Given the description of an element on the screen output the (x, y) to click on. 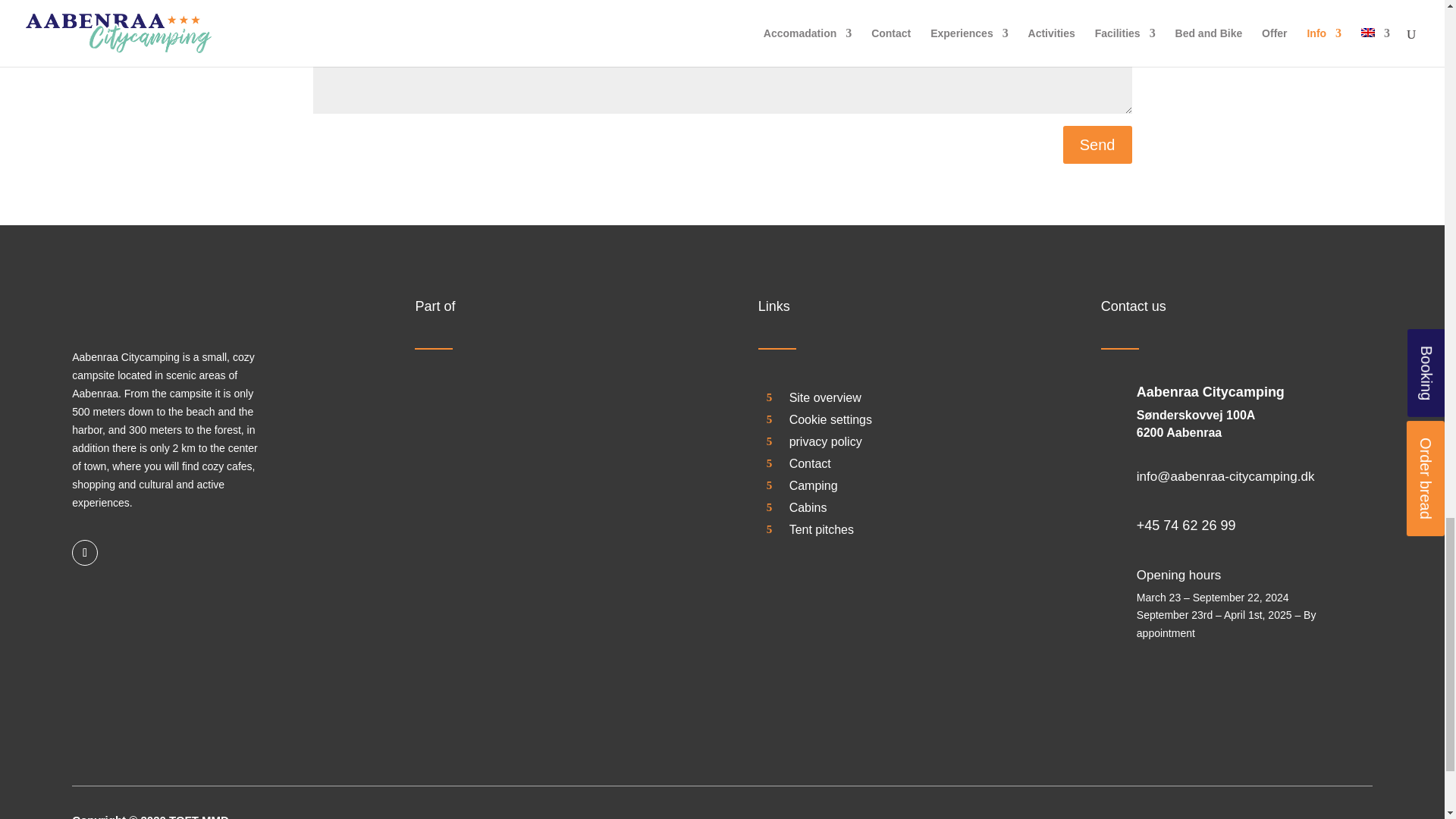
Follow on Facebook (84, 552)
anwb (1264, 814)
